Given the description of an element on the screen output the (x, y) to click on. 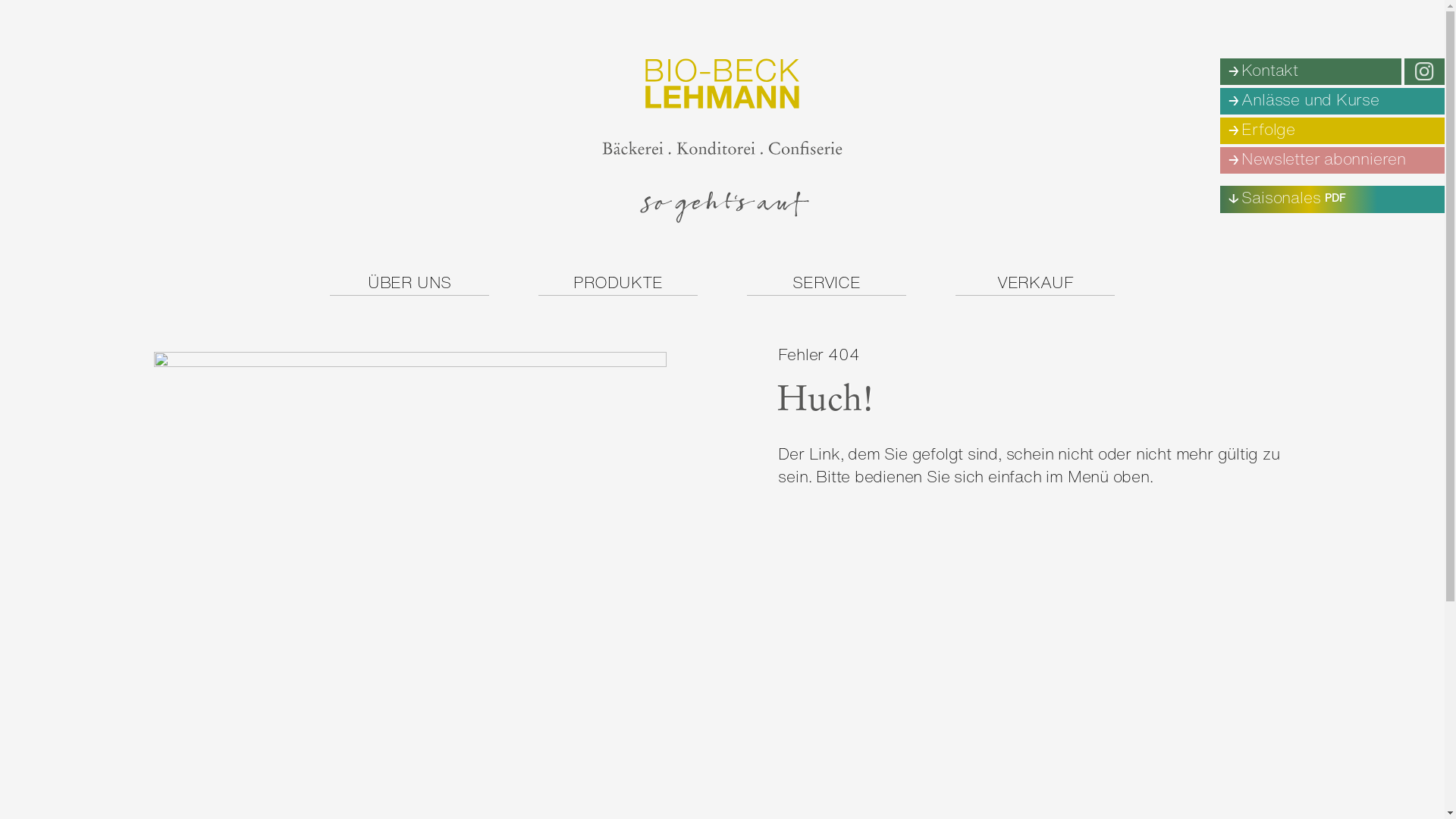
Erfolge Element type: text (1332, 130)
Newsletter abonnieren Element type: text (1332, 160)
Kontakt Element type: text (1310, 71)
Saisonales PDF Element type: text (1332, 199)
